Given the description of an element on the screen output the (x, y) to click on. 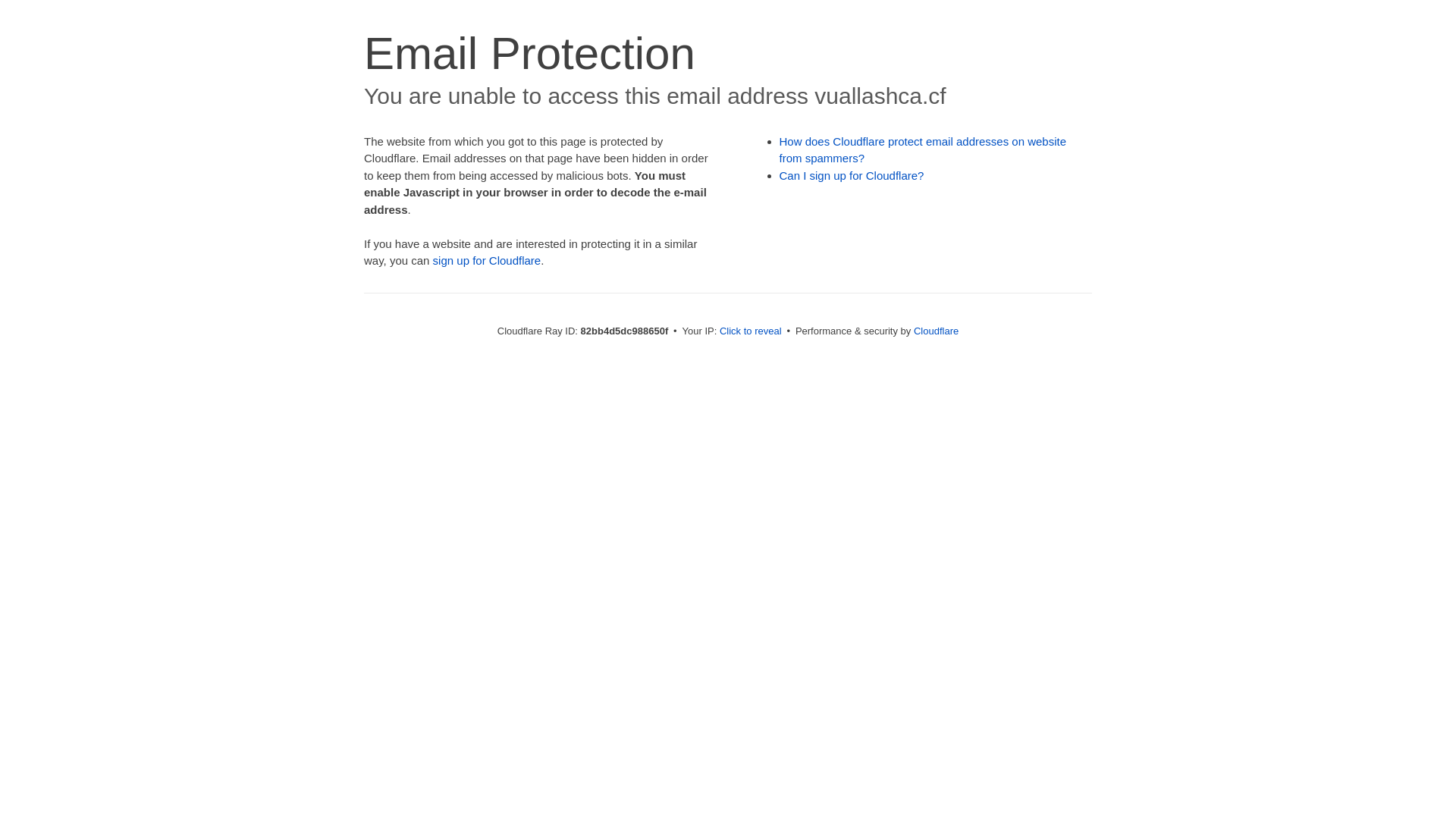
Can I sign up for Cloudflare? Element type: text (851, 175)
Click to reveal Element type: text (750, 330)
Cloudflare Element type: text (935, 330)
sign up for Cloudflare Element type: text (487, 260)
